Given the description of an element on the screen output the (x, y) to click on. 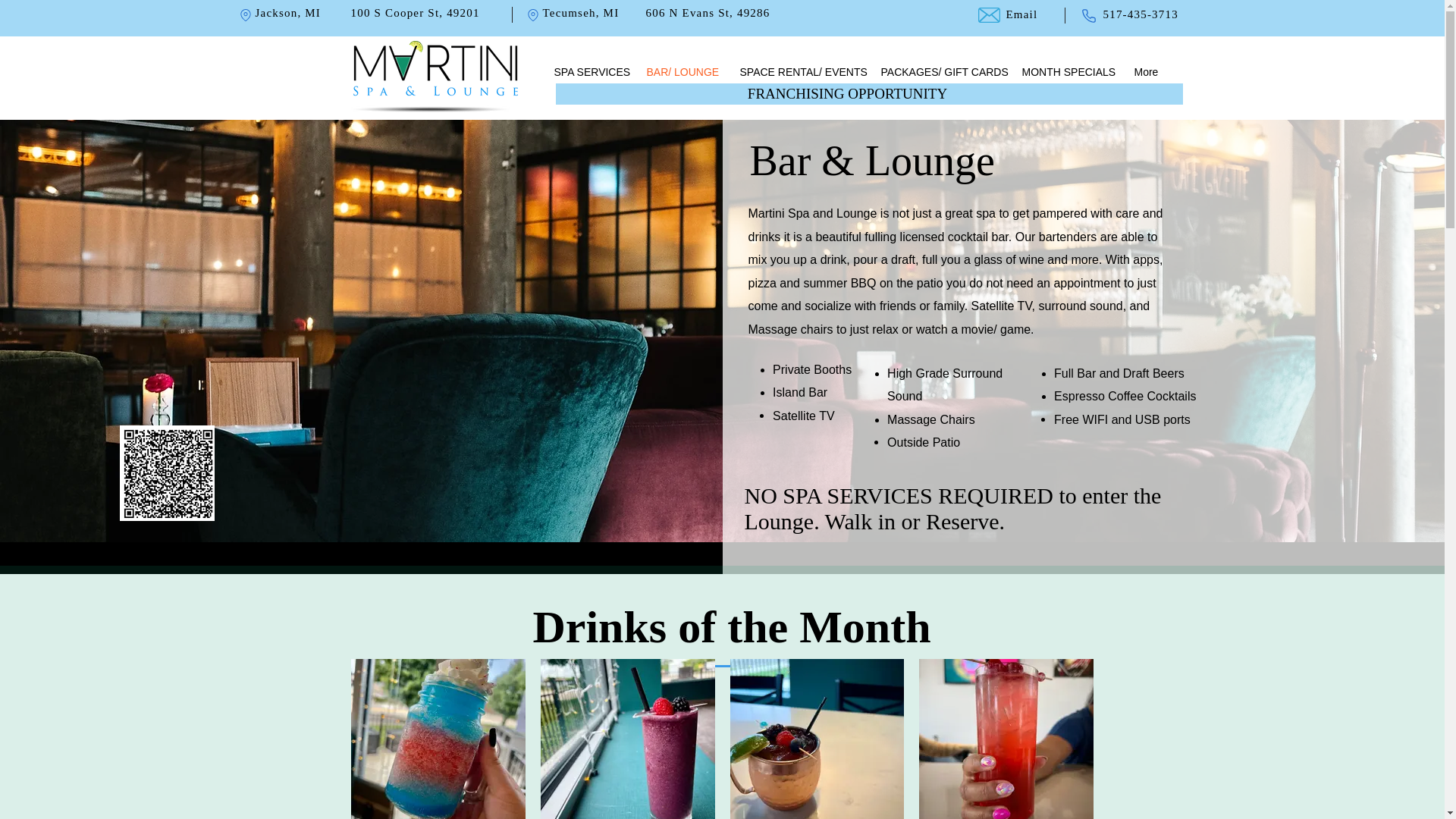
606 N Evans St, 49286 (708, 12)
FRANCHISING OPPORTUNITY  (849, 93)
Tecumseh, MI (581, 12)
Jackson, MI (287, 12)
MONTH SPECIALS (1066, 72)
100 S Cooper St, 49201 (414, 12)
Email (1021, 14)
517-435-3713 (1139, 14)
SPA SERVICES (588, 72)
